Given the description of an element on the screen output the (x, y) to click on. 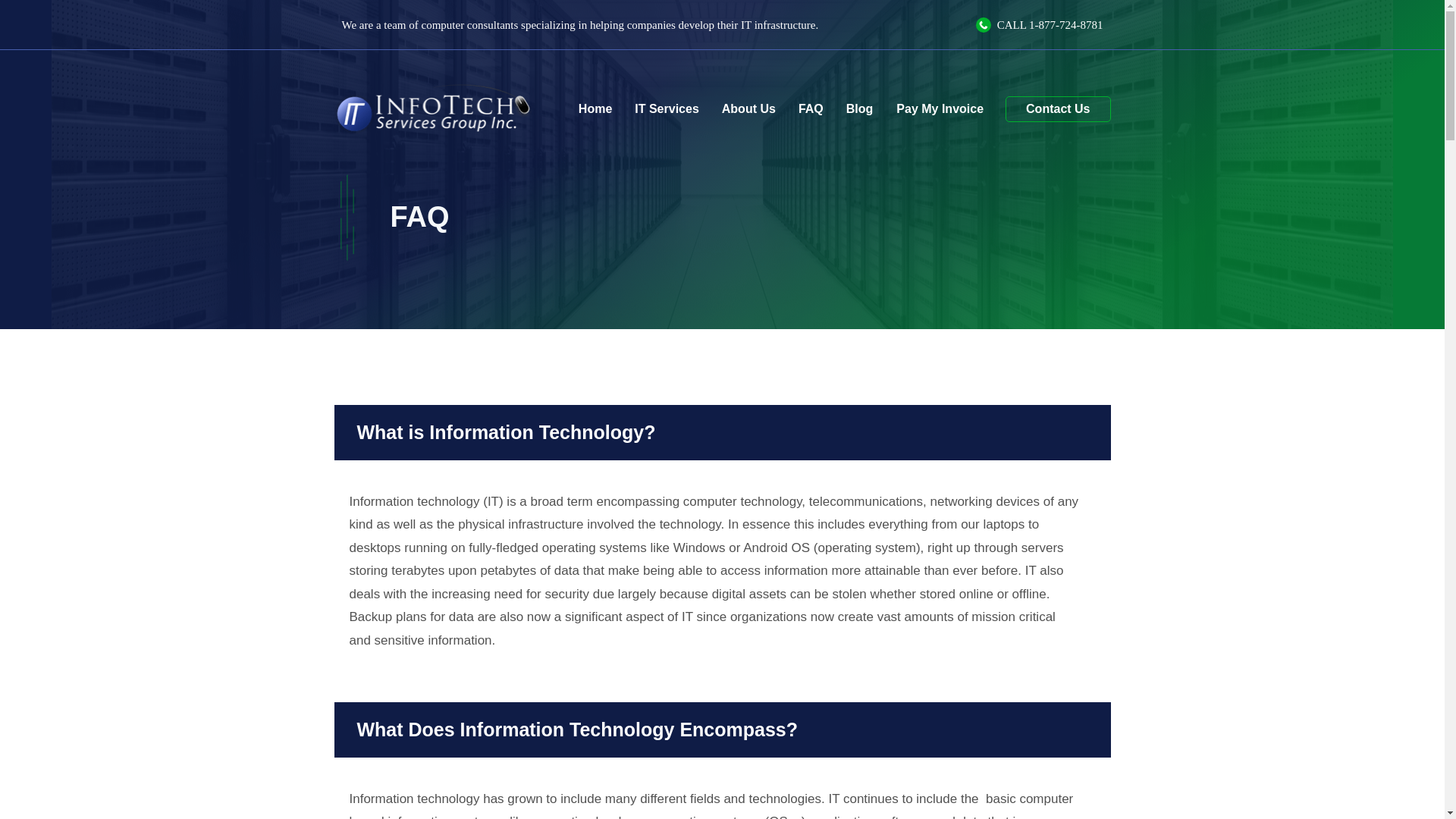
Blog (859, 108)
About Us (748, 108)
Contact Us (1057, 109)
Home (595, 108)
IT Services (666, 108)
Pay My Invoice (939, 108)
Pay My Invoice (939, 108)
FAQ (810, 108)
1-877-724-8781 (1066, 24)
